Given the description of an element on the screen output the (x, y) to click on. 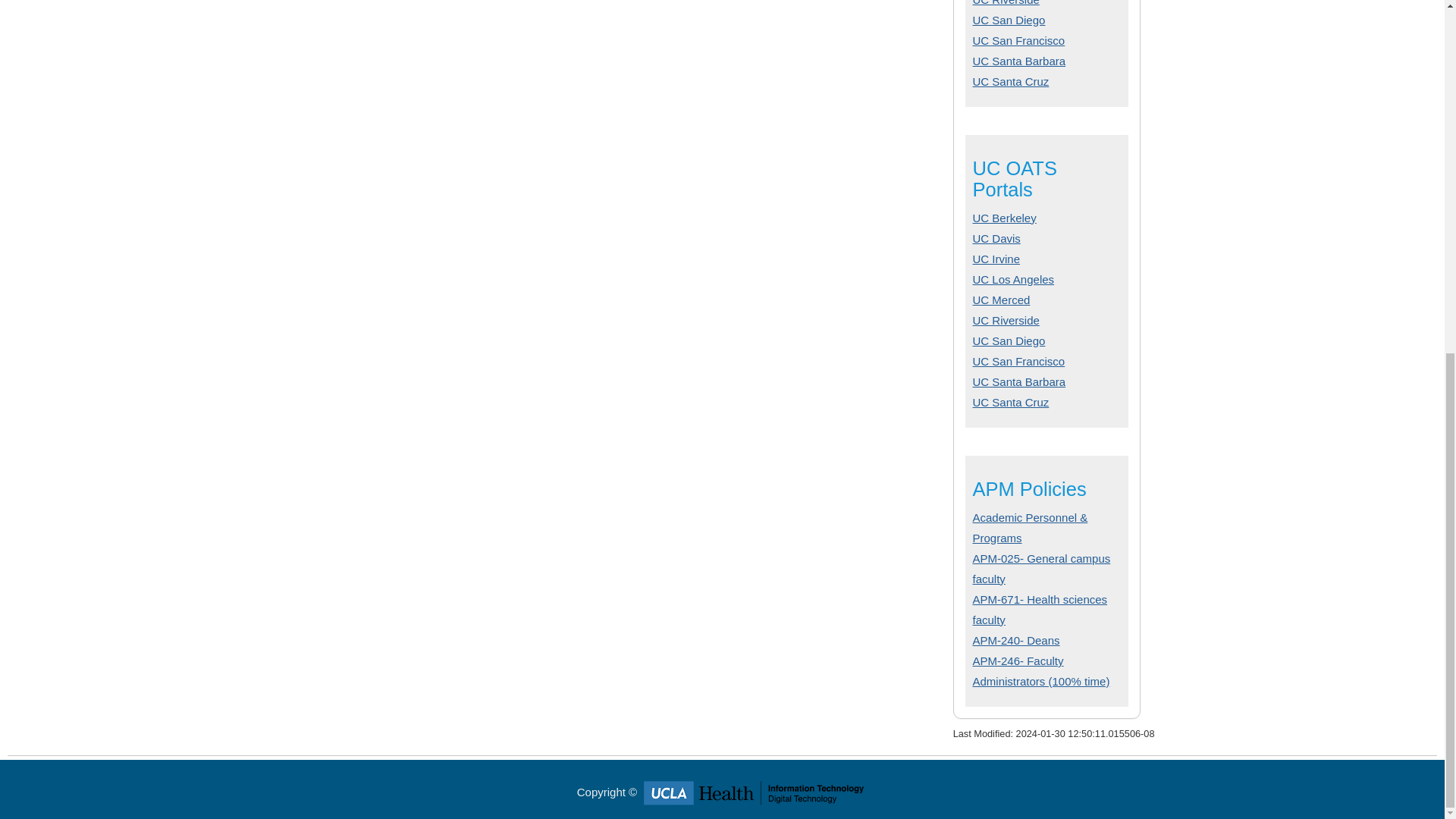
UCLA DGIT Digital Technology (753, 791)
